Given the description of an element on the screen output the (x, y) to click on. 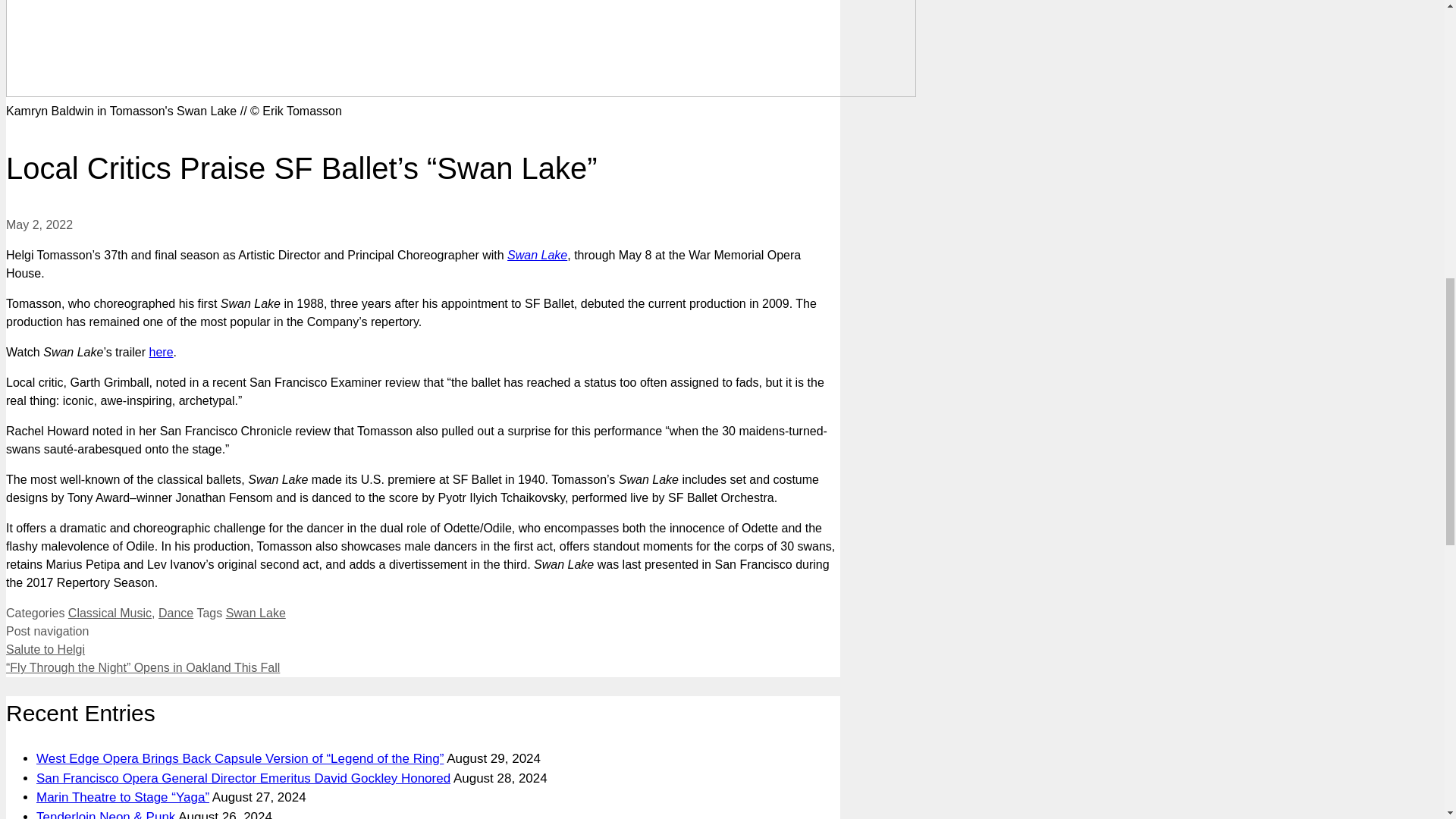
Previous (44, 649)
Swan Lake (255, 612)
Swan Lake (536, 254)
Classical Music (109, 612)
Next (142, 667)
here (161, 351)
Dance (175, 612)
Salute to Helgi (44, 649)
